Given the description of an element on the screen output the (x, y) to click on. 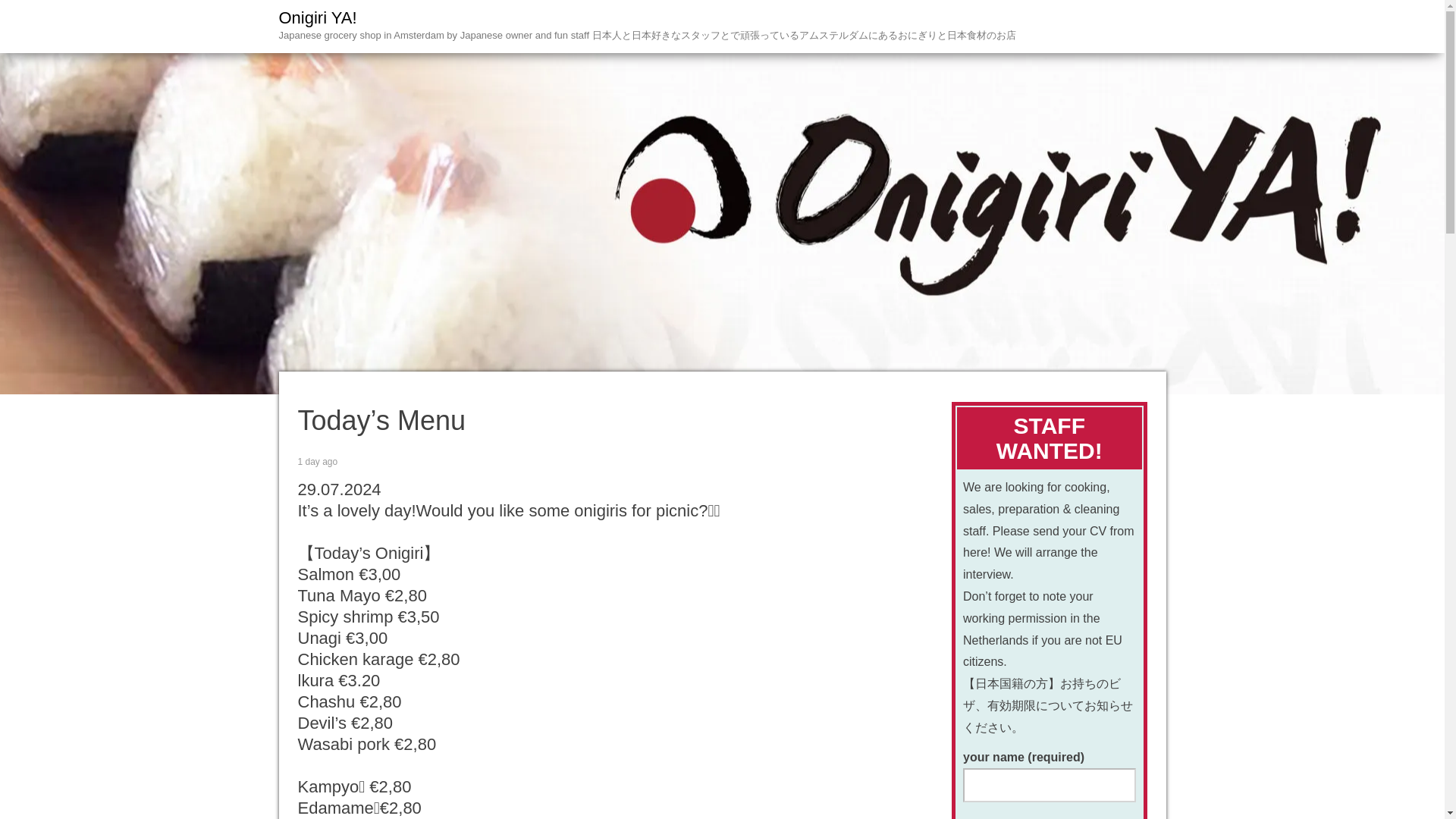
Onigiri YA! (317, 17)
